Given the description of an element on the screen output the (x, y) to click on. 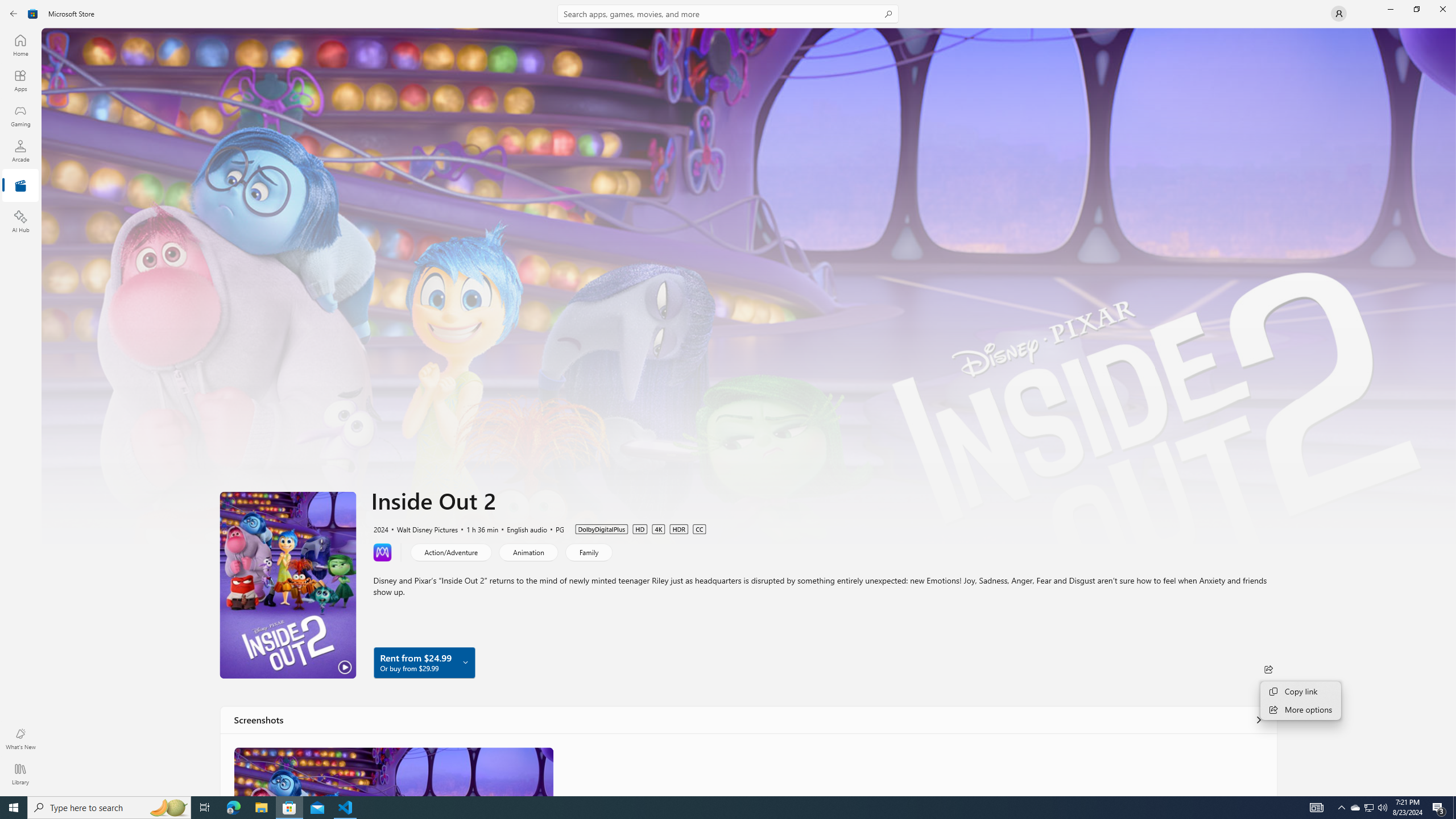
English audio (521, 528)
Learn more about Movies Anywhere (381, 551)
Close Microsoft Store (1442, 9)
Walt Disney Pictures (422, 528)
Share (1267, 669)
Rent from $24.99 Or buy from $29.99 (424, 662)
1 h 36 min (477, 528)
Back (13, 13)
Class: ListViewItem (393, 771)
AI Hub (20, 221)
Gaming (20, 115)
Home (20, 45)
Restore Microsoft Store (1416, 9)
Animation (528, 551)
